Given the description of an element on the screen output the (x, y) to click on. 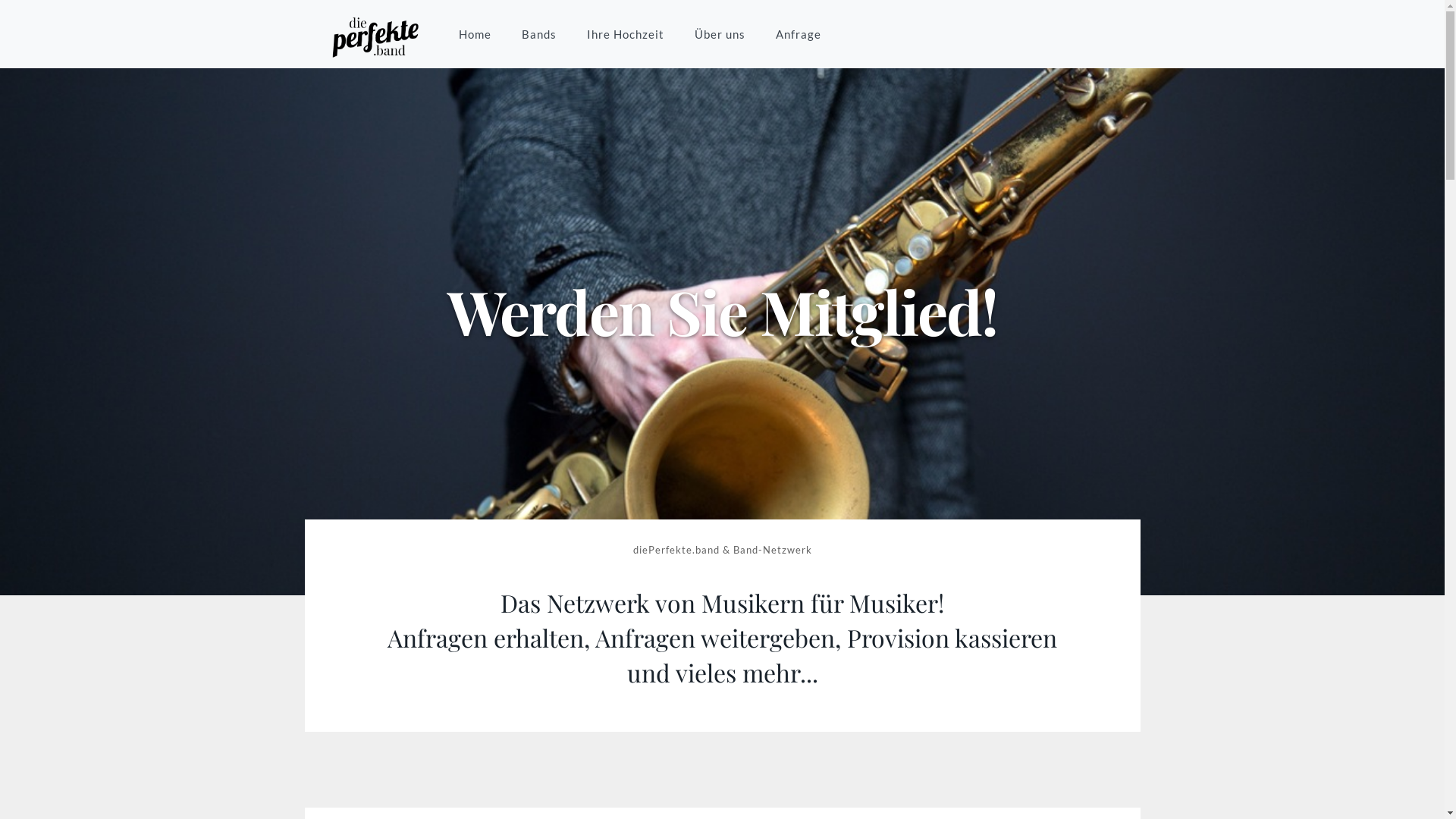
Home Element type: text (474, 34)
Ihre Hochzeit Element type: text (625, 34)
Anfrage Element type: text (798, 34)
Bands Element type: text (538, 34)
